Given the description of an element on the screen output the (x, y) to click on. 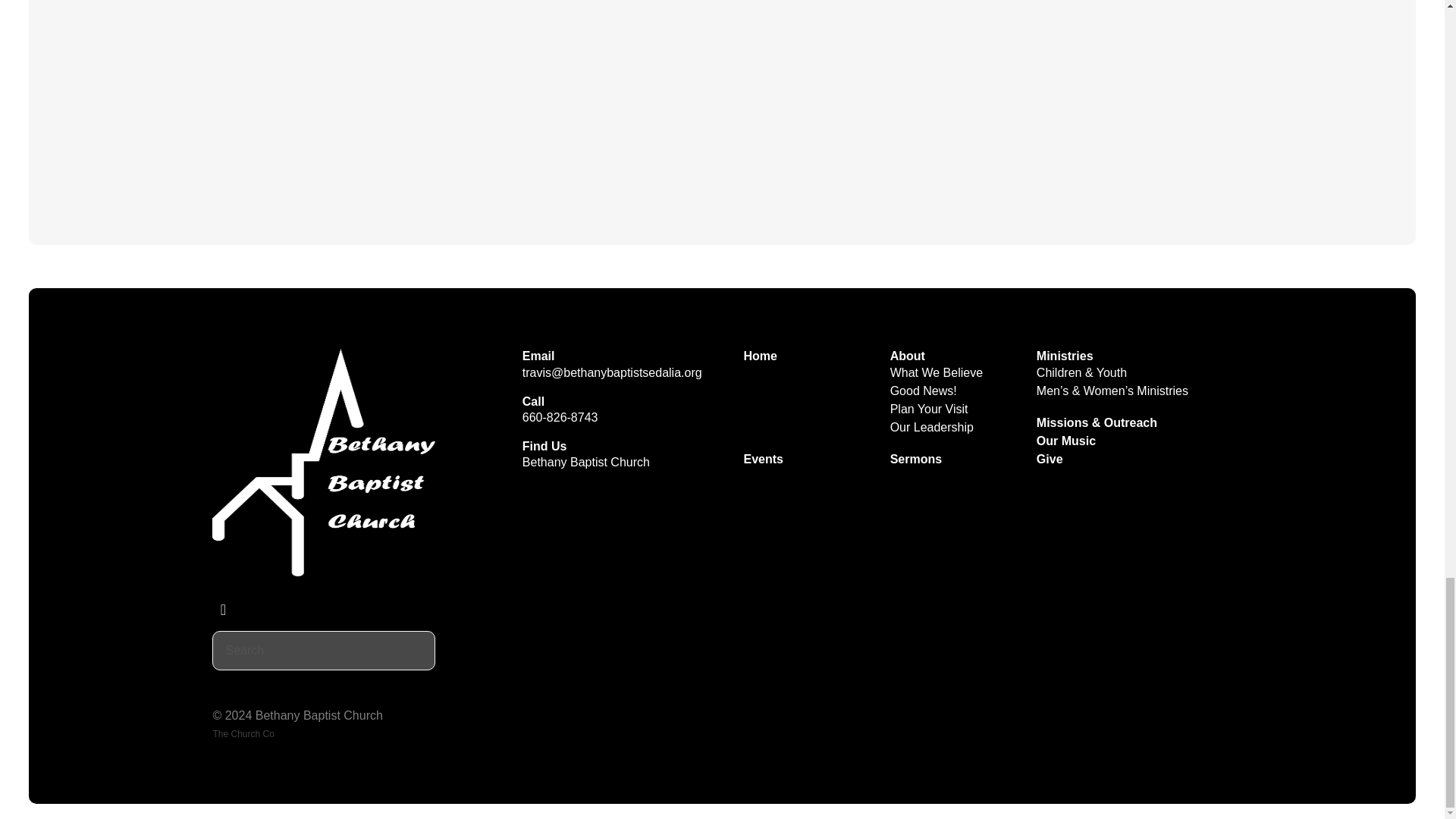
Plan Your Visit (936, 409)
Home (767, 355)
Good News! (930, 390)
660-826-8743 (560, 417)
What We Believe (943, 372)
Bethany Baptist Church (585, 461)
About (914, 355)
Our Leadership (938, 427)
